Given the description of an element on the screen output the (x, y) to click on. 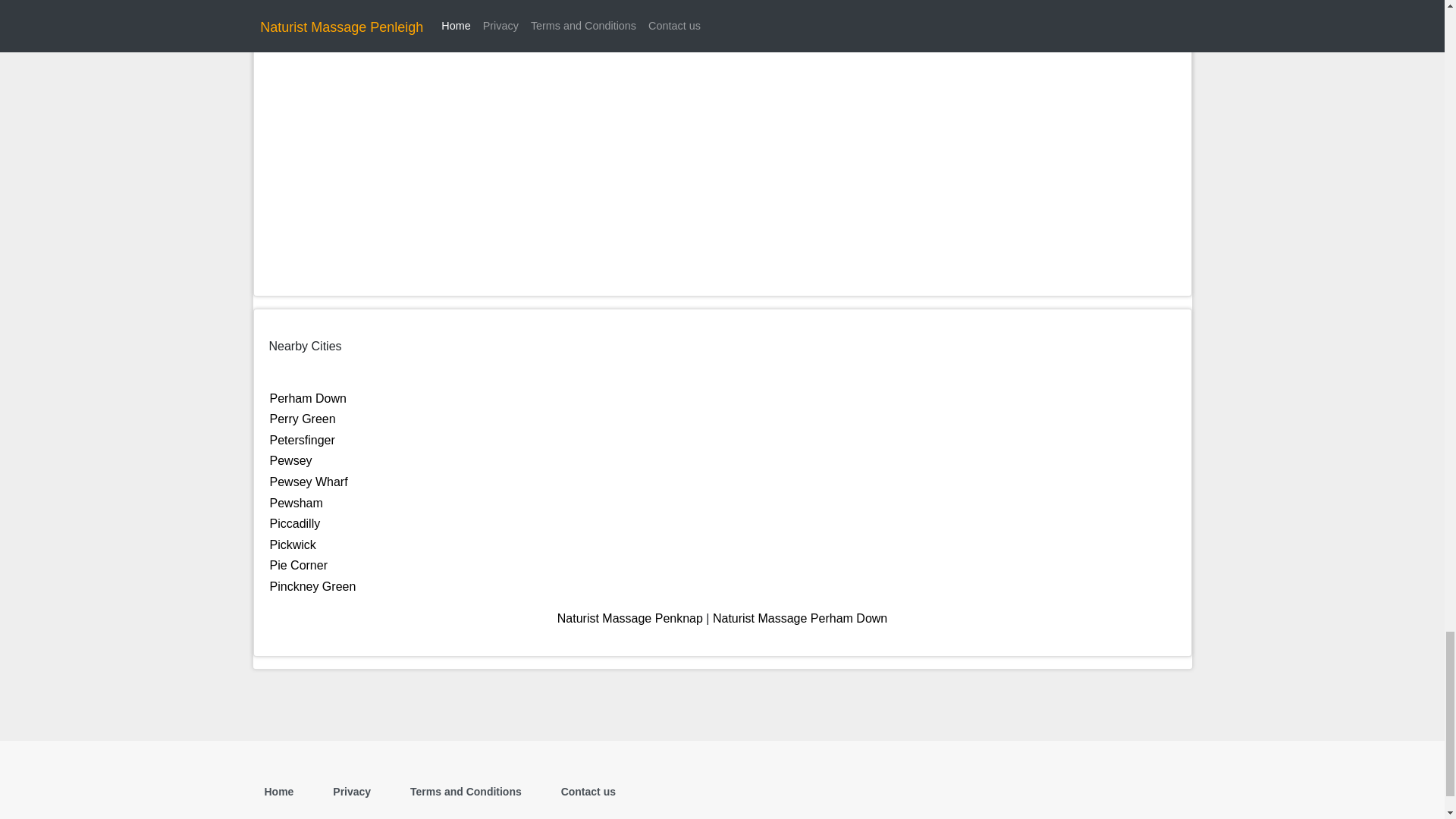
Naturist Massage Perham Down (799, 617)
Perham Down (307, 398)
Naturist Massage Penknap (630, 617)
Pewsey Wharf (308, 481)
Pewsey (291, 460)
Pewsham (296, 502)
Pinckney Green (312, 585)
Piccadilly (294, 522)
Pie Corner (298, 564)
Perry Green (302, 418)
